Given the description of an element on the screen output the (x, y) to click on. 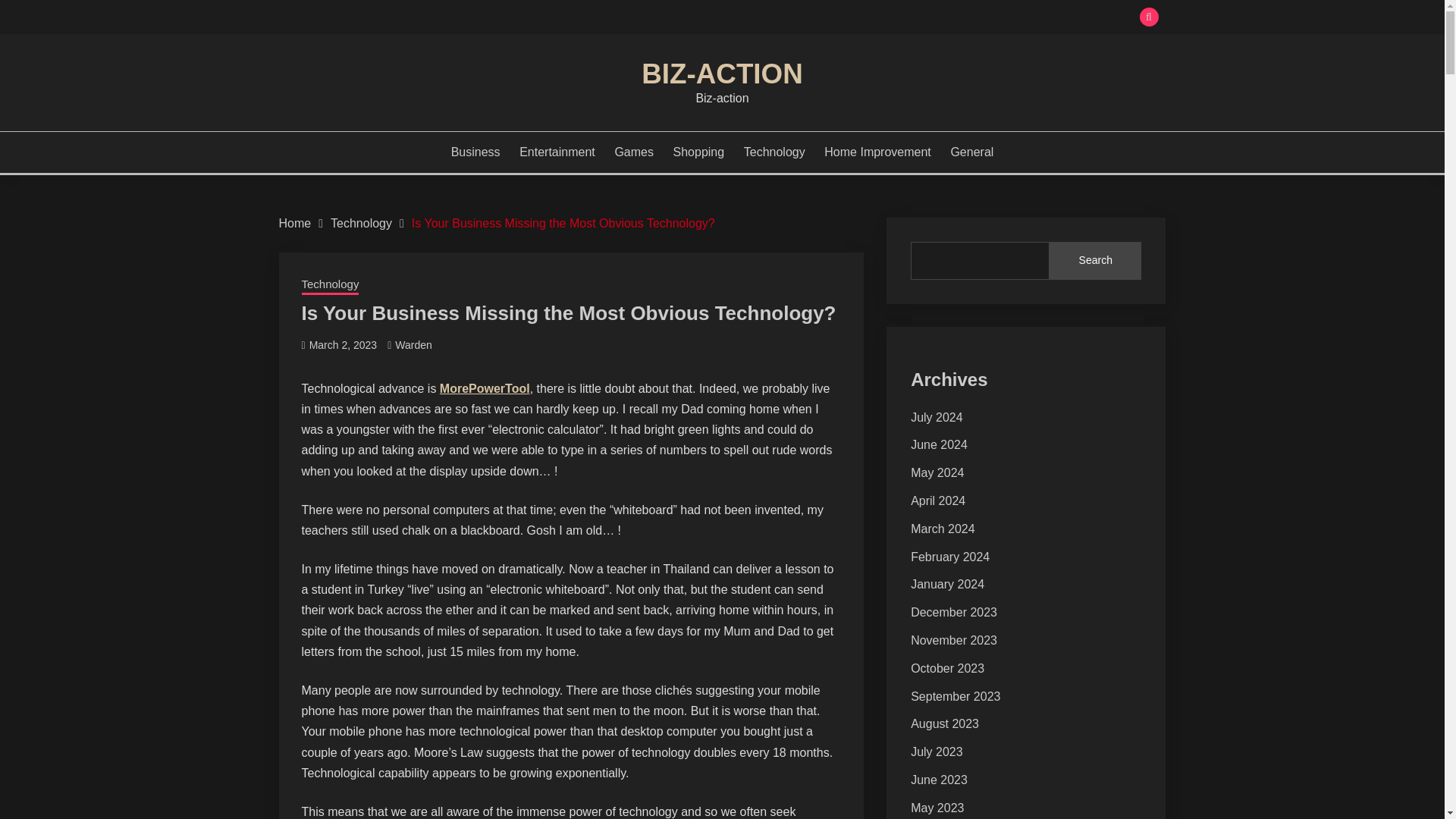
Shopping (698, 152)
General (971, 152)
June 2024 (939, 444)
Warden (413, 345)
BIZ-ACTION (722, 73)
Games (633, 152)
Technology (360, 223)
March 2, 2023 (342, 345)
Technology (774, 152)
Technology (330, 285)
May 2024 (937, 472)
Business (475, 152)
Home (295, 223)
Search (1095, 260)
Entertainment (557, 152)
